Given the description of an element on the screen output the (x, y) to click on. 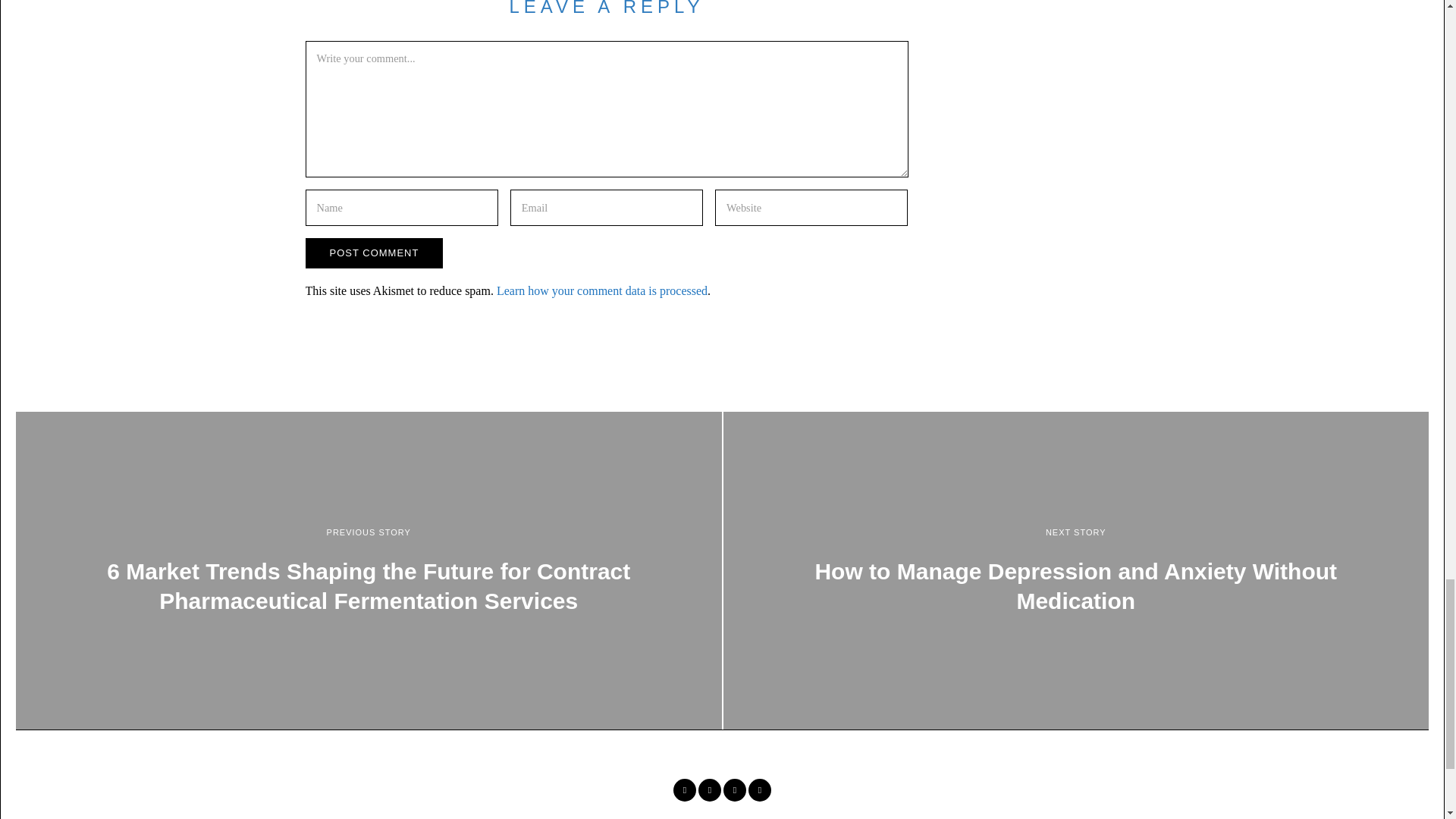
LinkedIn (734, 789)
Facebook (683, 789)
Post Comment (373, 253)
Post Comment (373, 253)
Learn how your comment data is processed (601, 290)
Email (759, 789)
Twitter (709, 789)
